Given the description of an element on the screen output the (x, y) to click on. 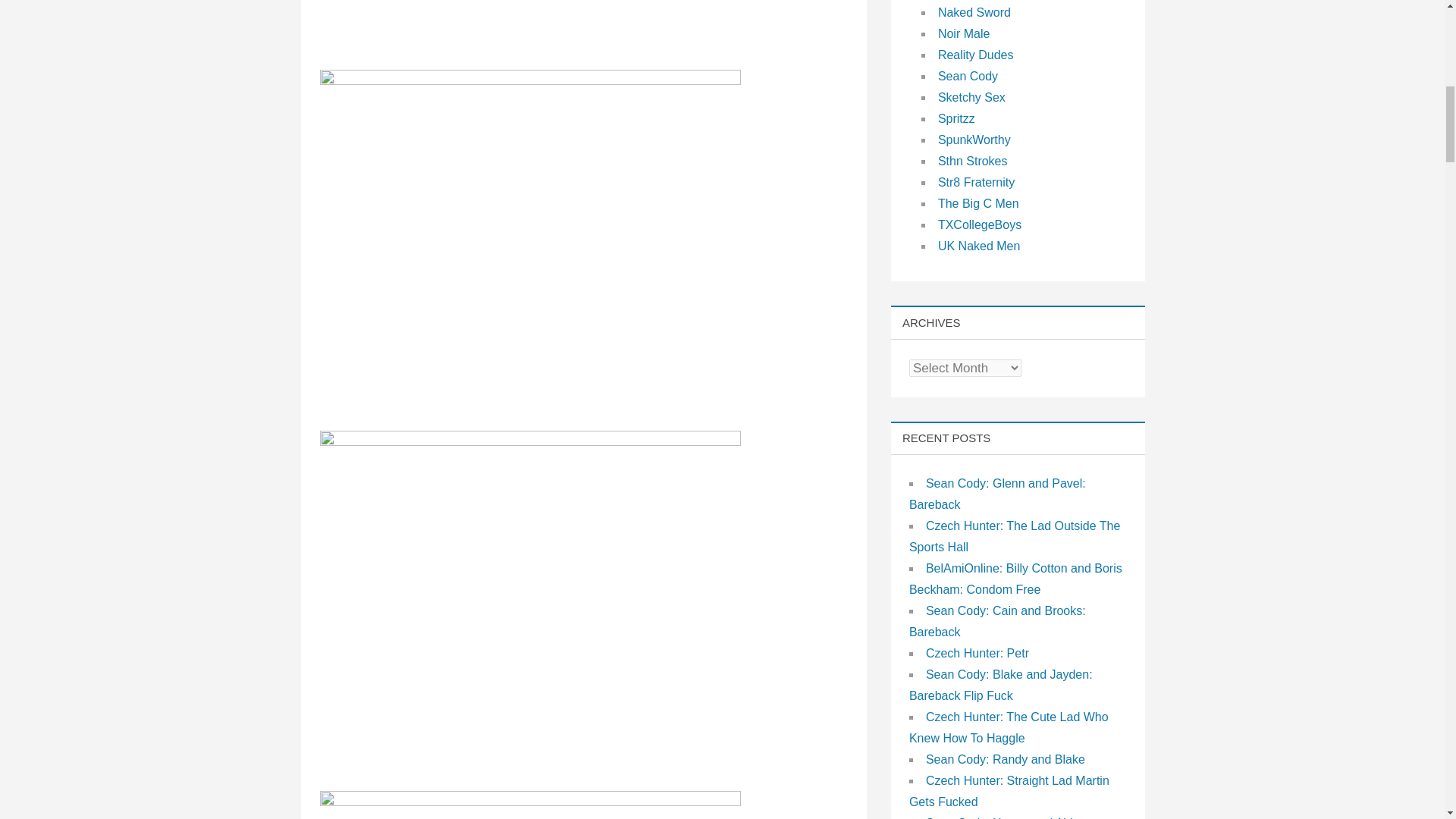
Debt Dandy: Drunk Driver Needs Cash Fast (530, 440)
Debt Dandy: Drunk Driver Needs Cash Fast (530, 80)
Debt Dandy: Drunk Driver Needs Cash Fast (530, 801)
